Given the description of an element on the screen output the (x, y) to click on. 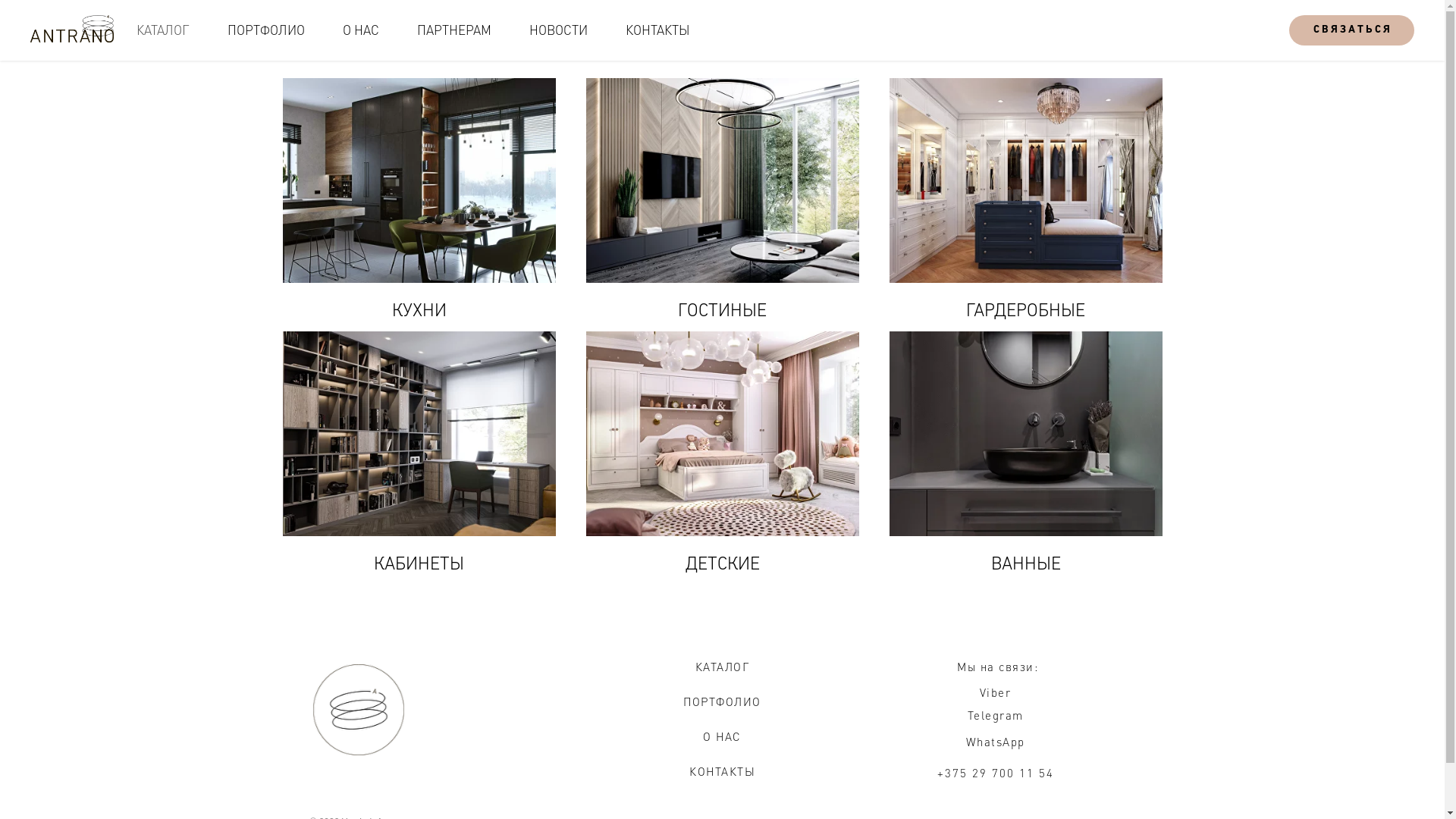
Telegram Element type: text (995, 714)
WhatsApp Element type: text (995, 741)
Viber Element type: text (995, 691)
+375 29 700 11 54 Element type: text (995, 772)
